Given the description of an element on the screen output the (x, y) to click on. 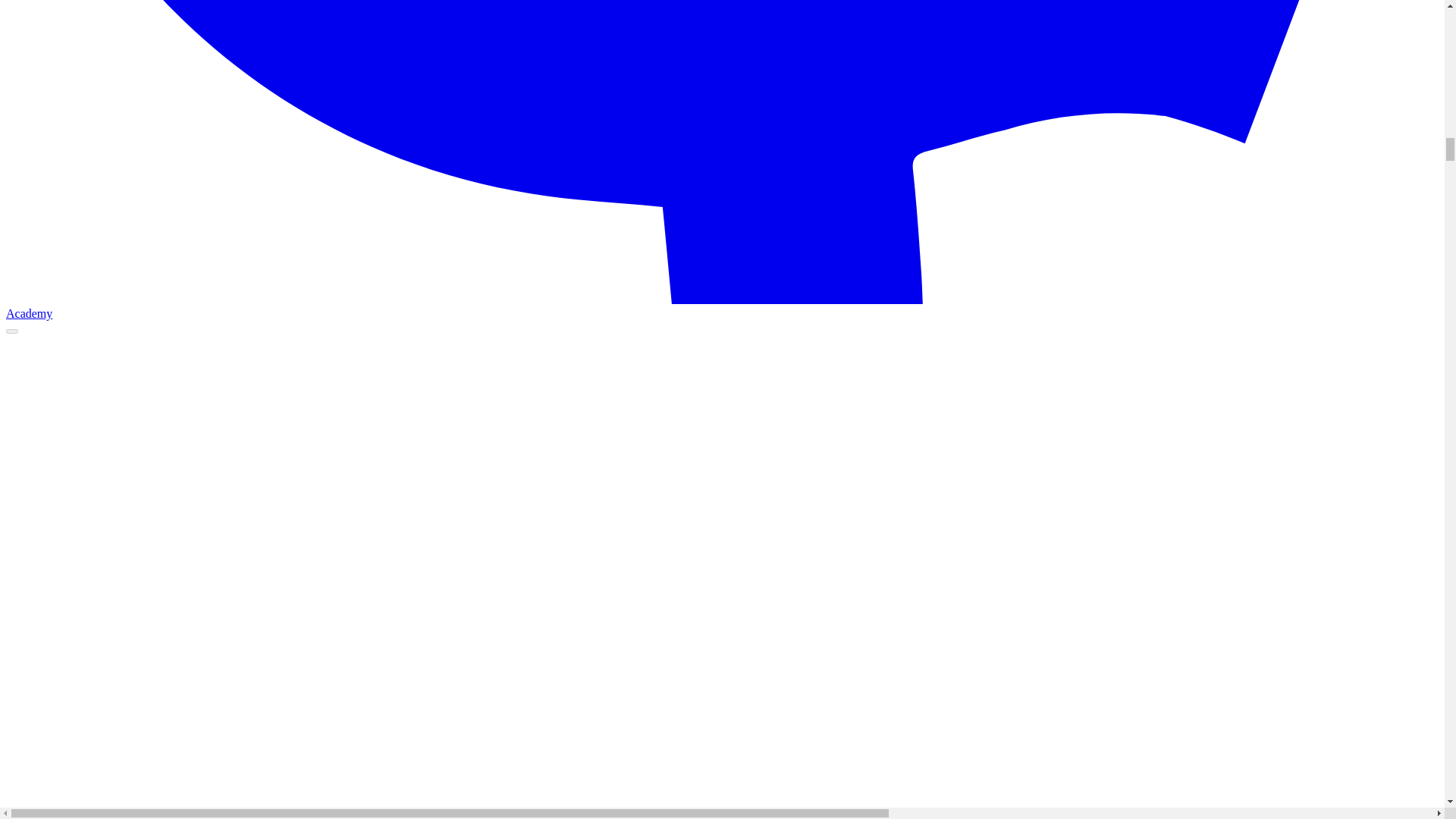
Academy (721, 306)
